Given the description of an element on the screen output the (x, y) to click on. 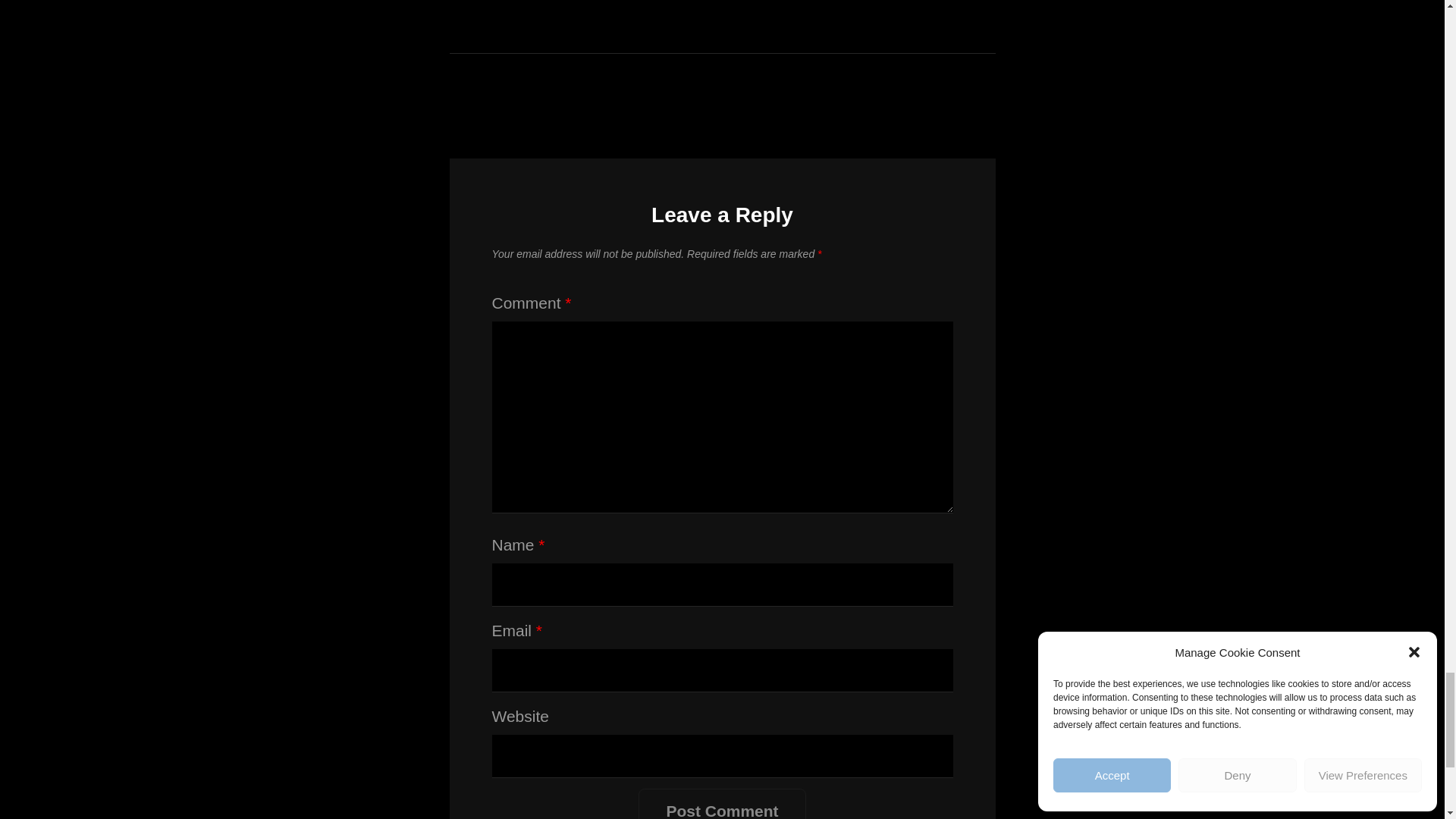
Post Comment (722, 803)
Post Comment (722, 803)
